Given the description of an element on the screen output the (x, y) to click on. 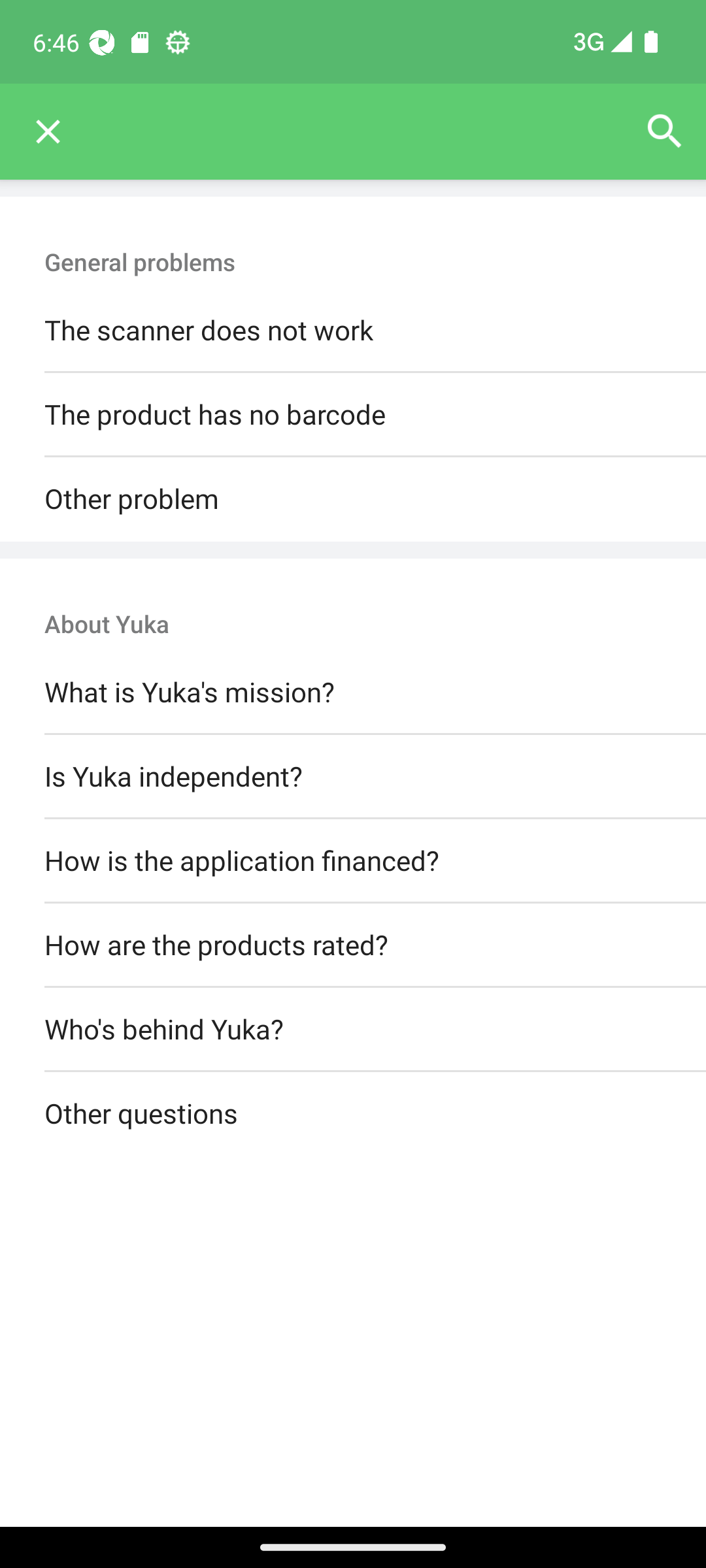
Search (664, 131)
The scanner does not work (353, 330)
The product has no barcode (353, 415)
Other problem (353, 498)
What is Yuka's mission? (353, 692)
Is Yuka independent? (353, 776)
How is the application financed? (353, 860)
How are the products rated? (353, 945)
Who's behind Yuka? (353, 1029)
Other questions (353, 1114)
